Given the description of an element on the screen output the (x, y) to click on. 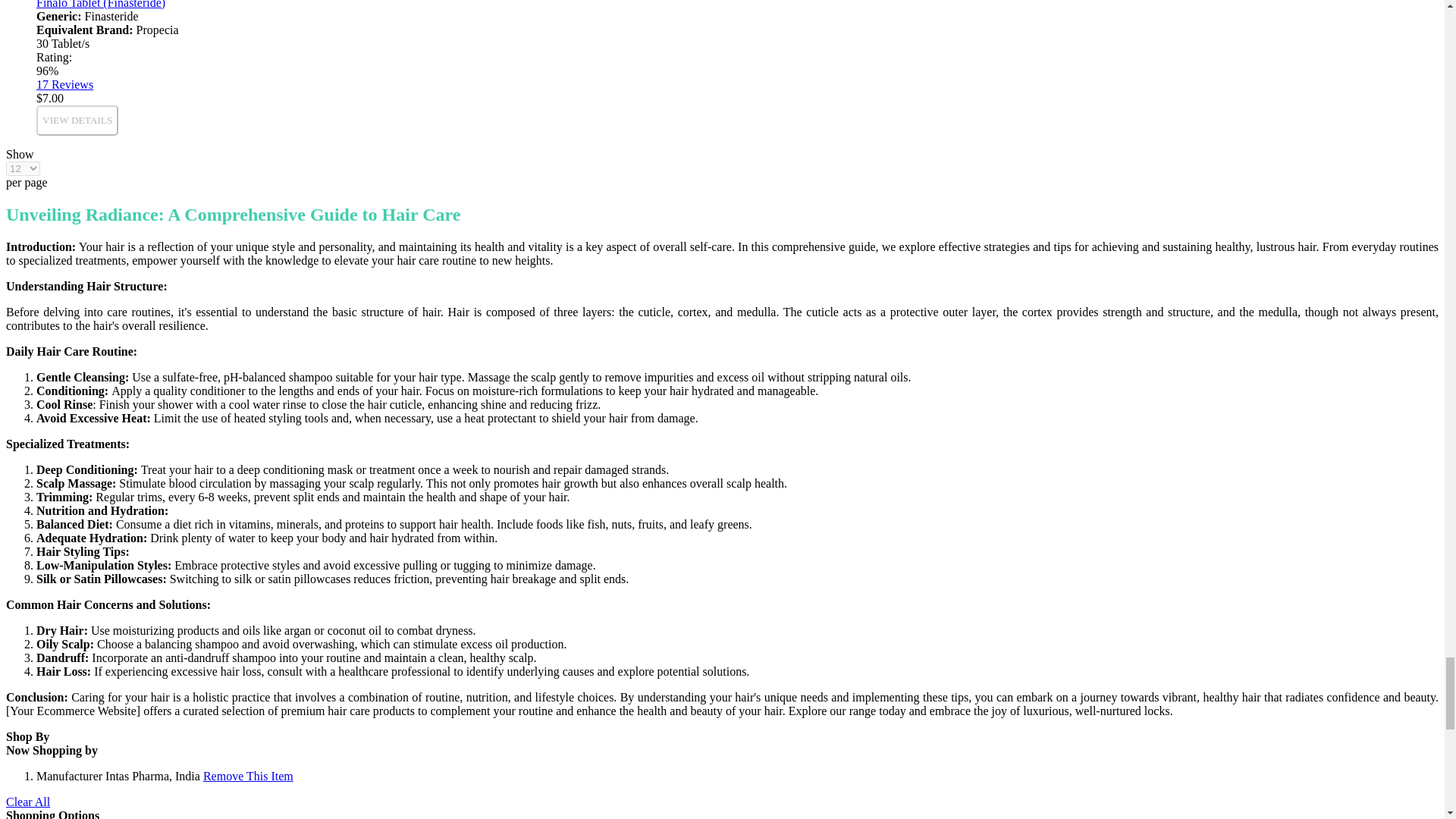
Remove Manufacturer Intas Pharma, India (248, 775)
View Details (76, 120)
